Given the description of an element on the screen output the (x, y) to click on. 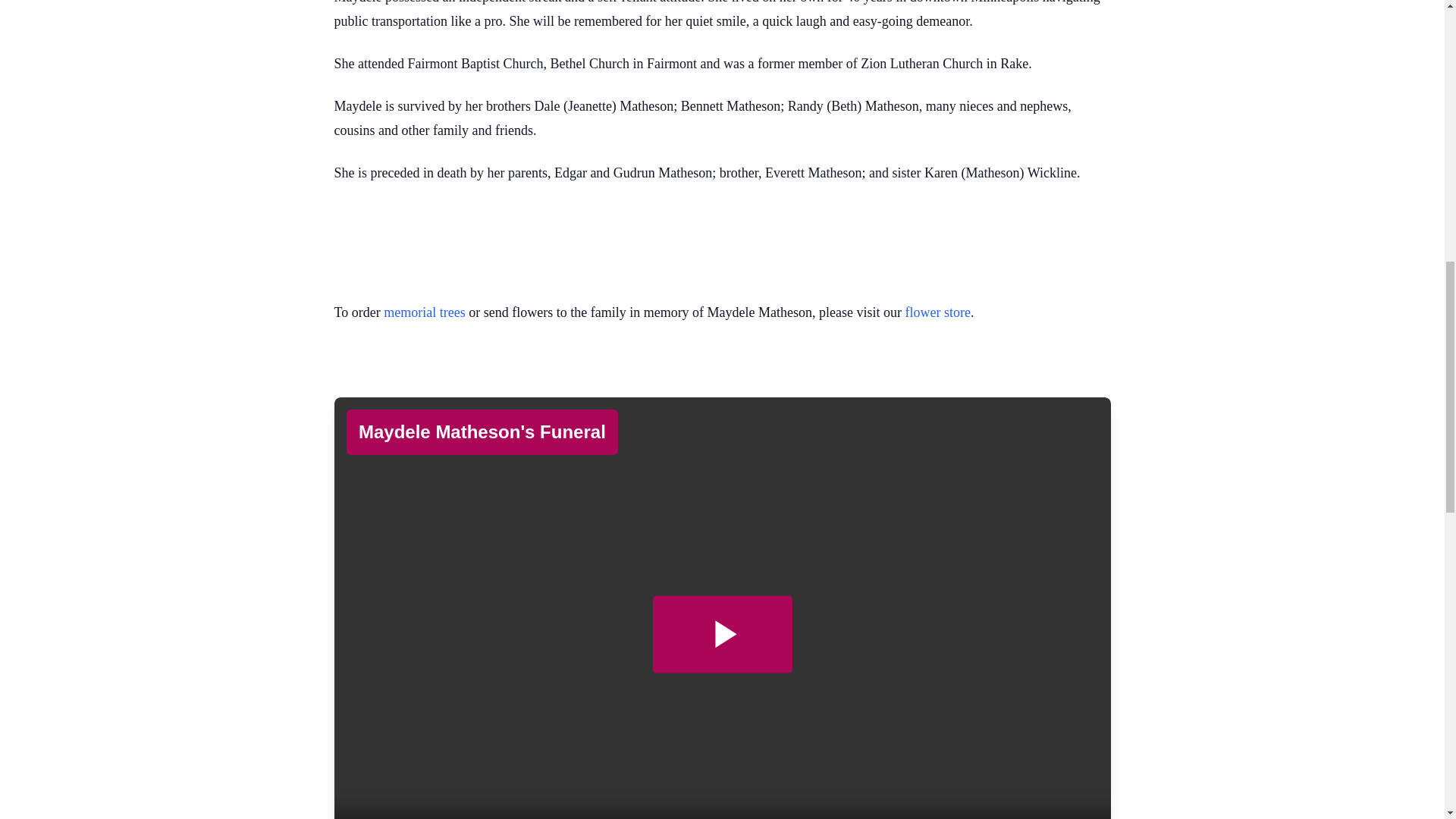
flower store (938, 312)
memorial trees (424, 312)
